Given the description of an element on the screen output the (x, y) to click on. 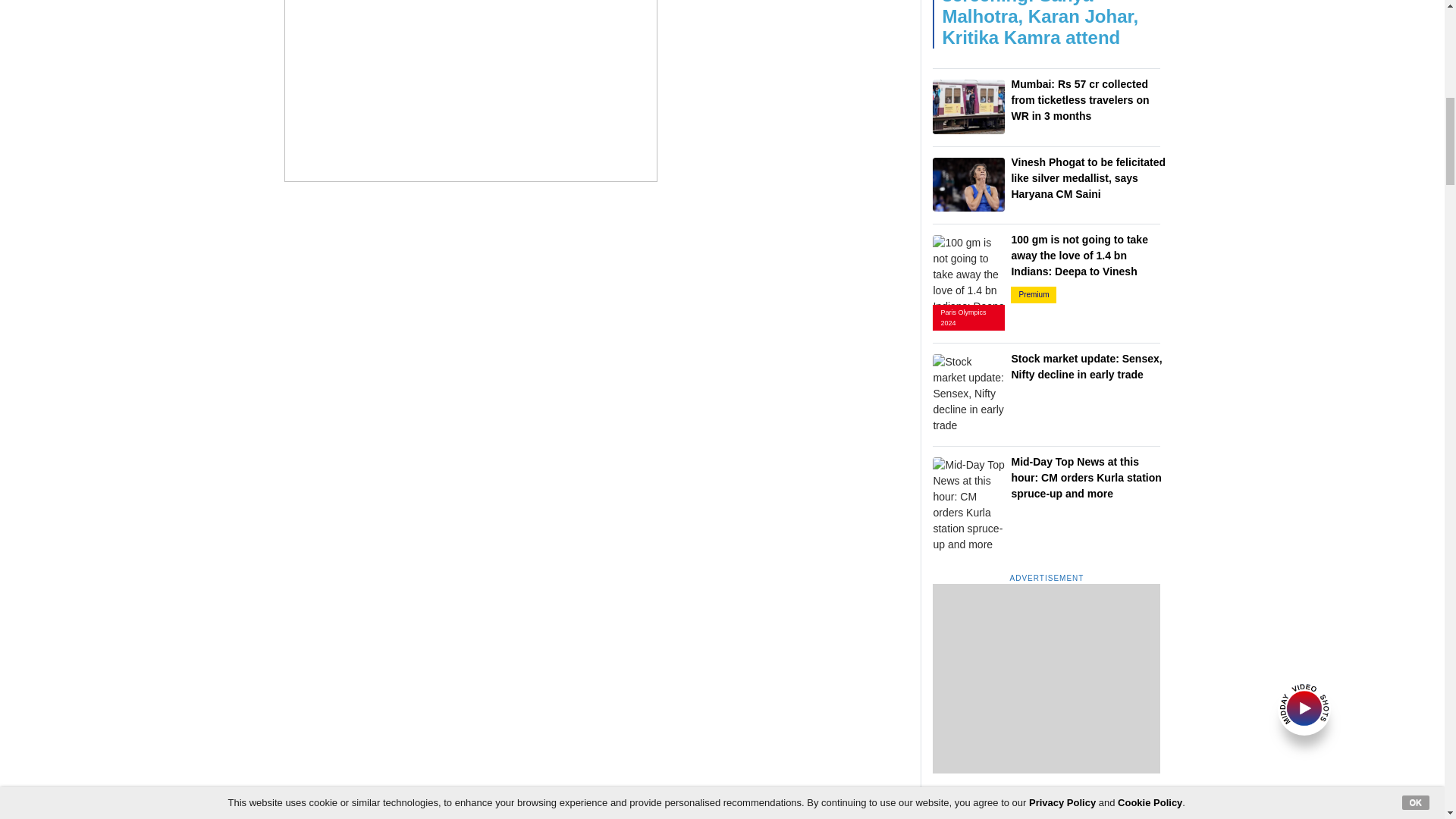
Stock market update: Sensex, Nifty decline in early trade (968, 393)
